Given the description of an element on the screen output the (x, y) to click on. 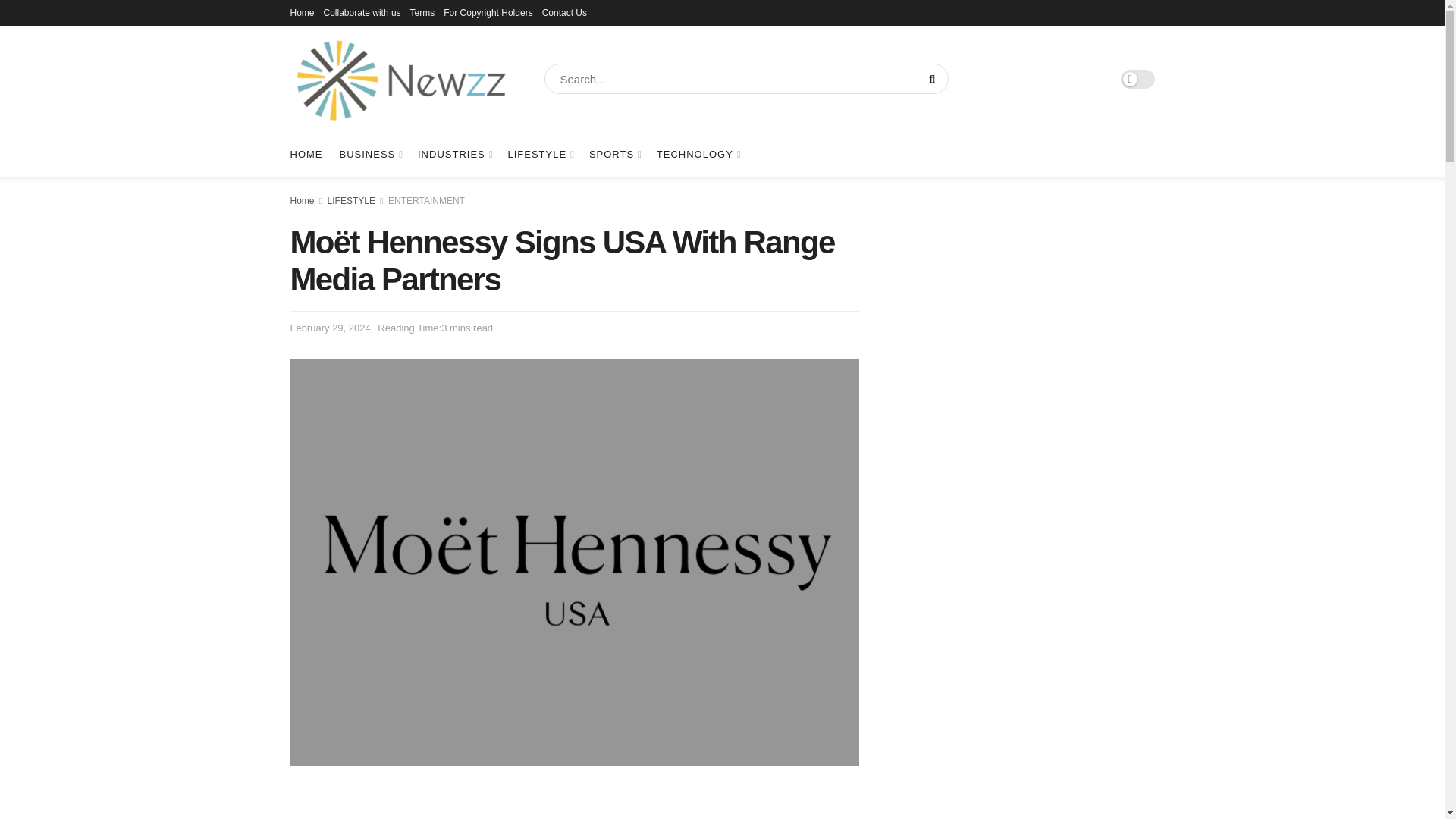
INDUSTRIES (453, 154)
Contact Us (563, 12)
Terms (422, 12)
For Copyright Holders (488, 12)
Home (301, 12)
BUSINESS (370, 154)
Collaborate with us (362, 12)
